Given the description of an element on the screen output the (x, y) to click on. 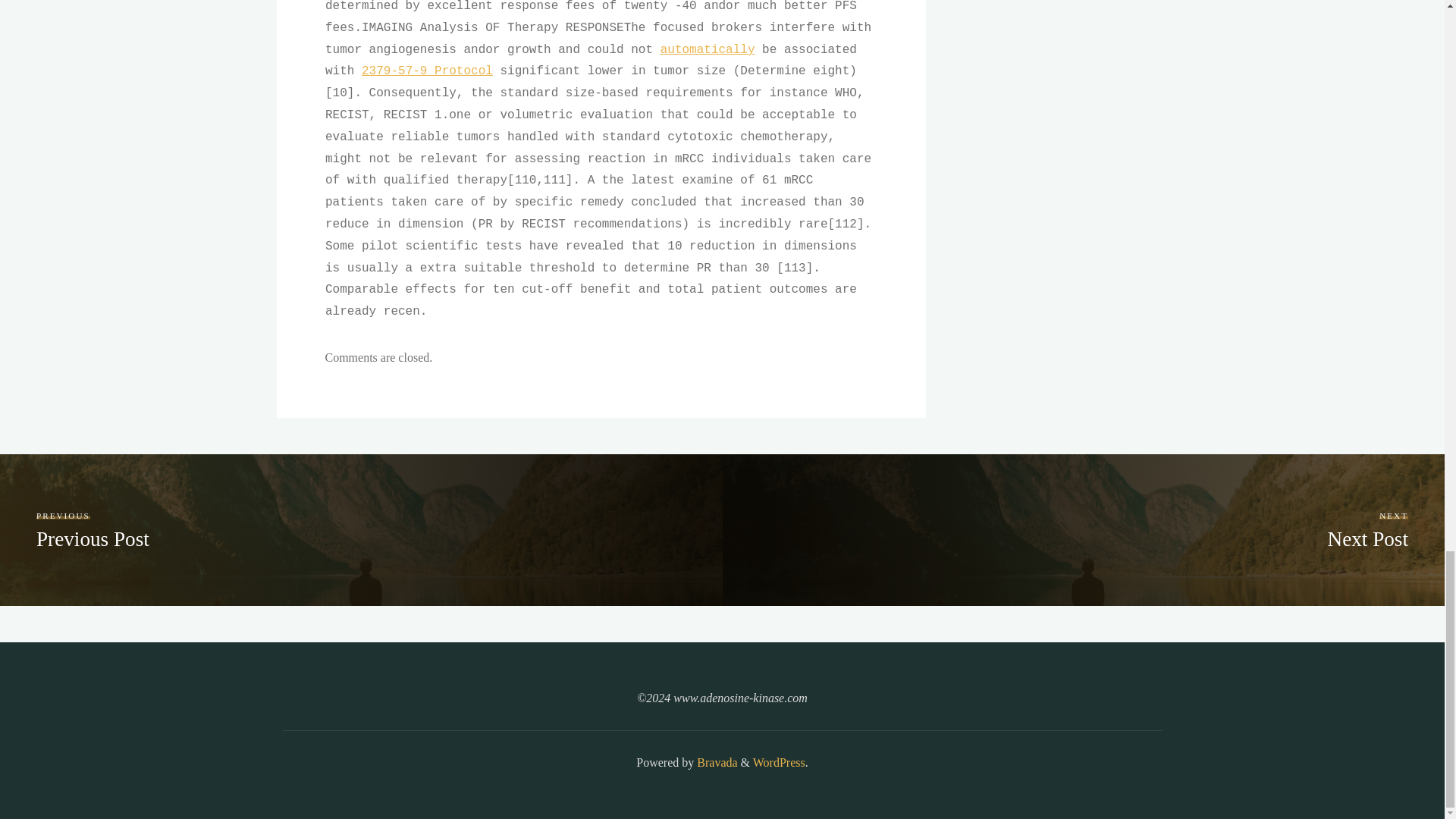
WordPress (92, 529)
automatically (778, 762)
2379-57-9 Protocol (706, 49)
Bravada WordPress Theme by Cryout Creations (427, 70)
Semantic Personal Publishing Platform (1366, 529)
Bravada (715, 762)
